Given the description of an element on the screen output the (x, y) to click on. 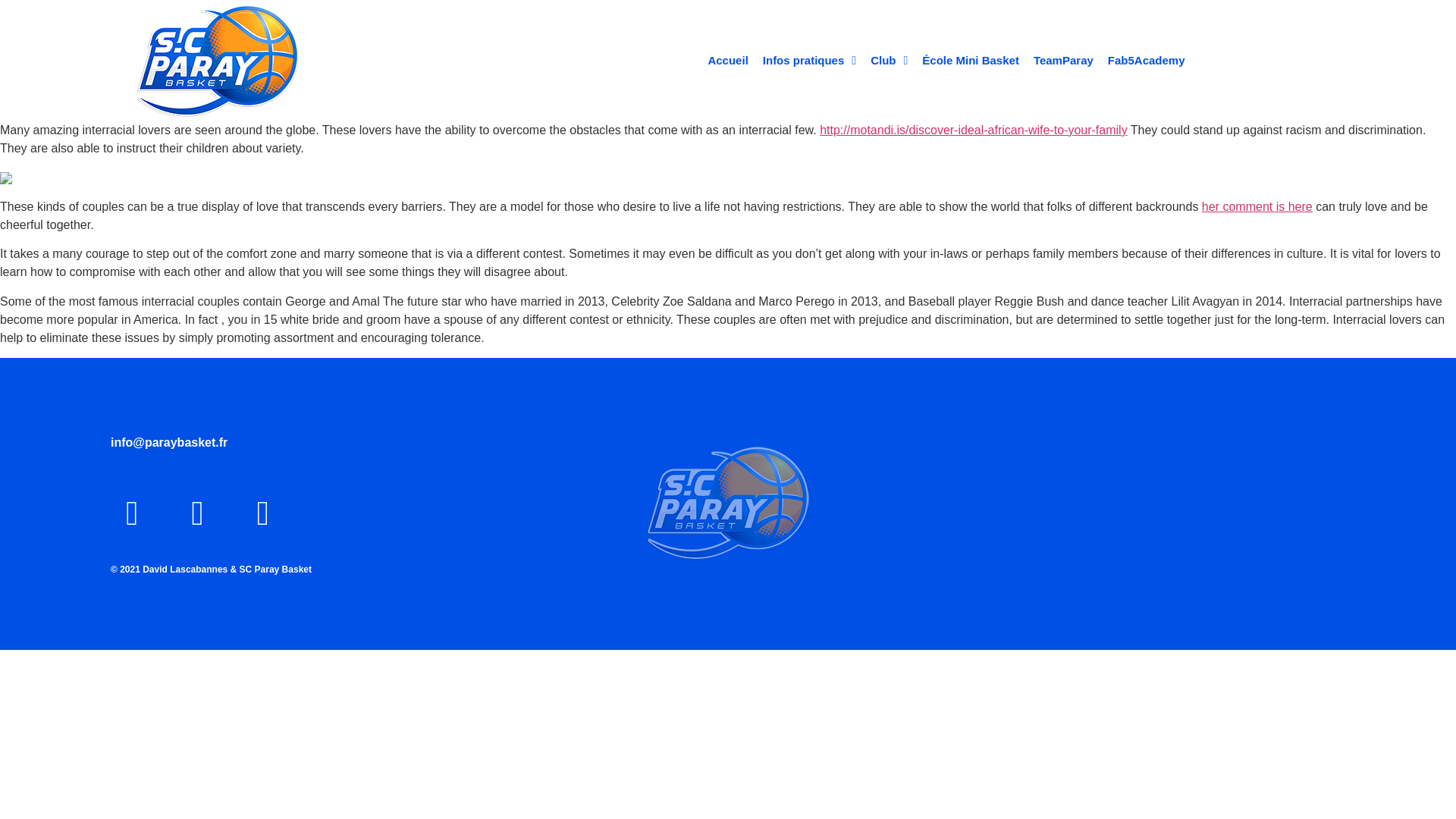
Infos pratiques (809, 60)
Club (889, 60)
TeamParay (1063, 60)
Accueil (727, 60)
Fab5Academy (1146, 60)
